Given the description of an element on the screen output the (x, y) to click on. 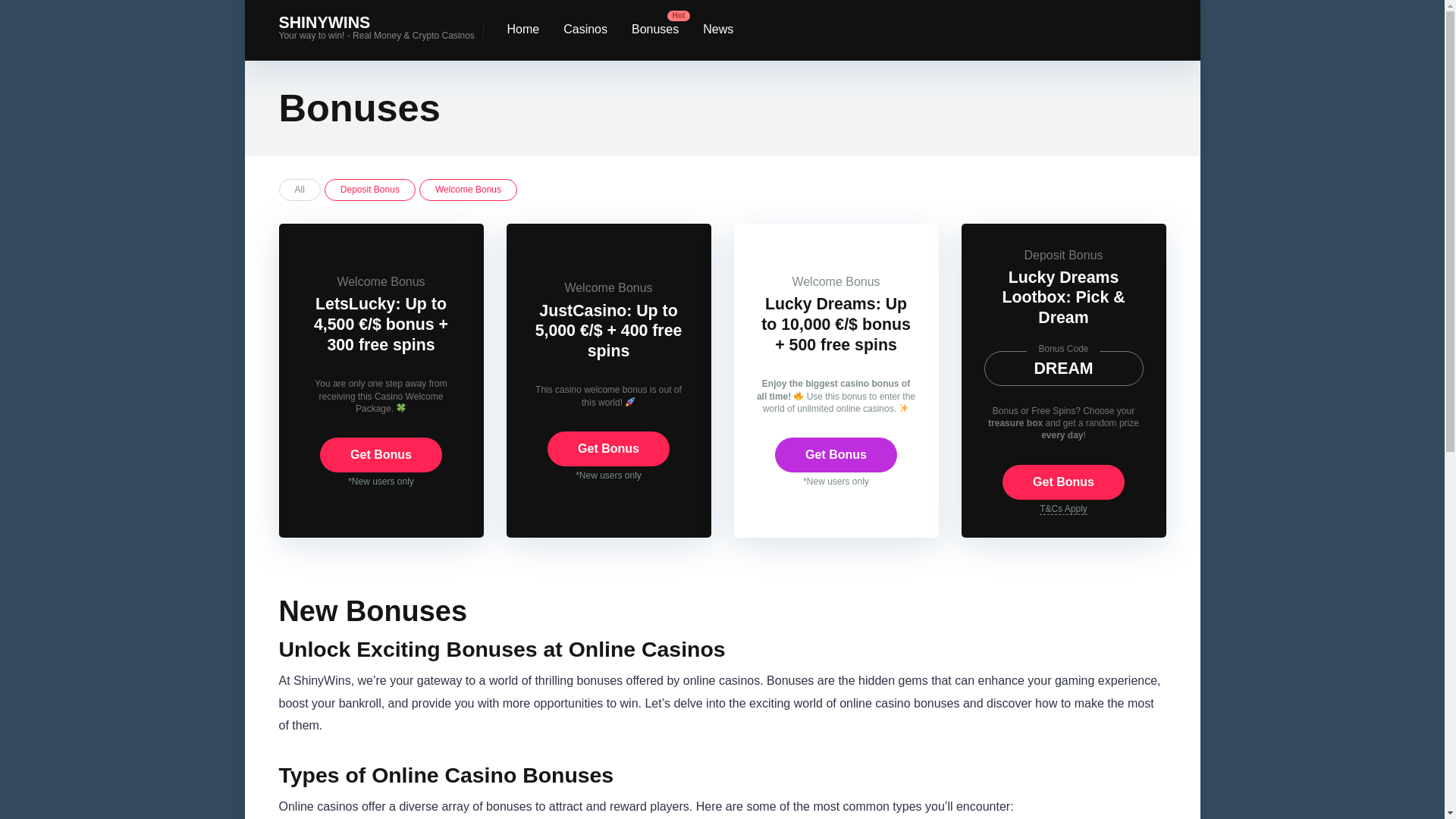
SHINYWINS (325, 17)
Get Bonus (381, 454)
Deposit Bonus (369, 189)
Welcome Bonus (608, 287)
Home (523, 30)
Bonuses (655, 30)
Welcome Bonus (608, 287)
Welcome Bonus (467, 189)
Get Bonus (381, 454)
News (717, 30)
Welcome Bonus (380, 281)
Get Bonus (835, 454)
Get Bonus (608, 448)
Welcome Bonus (835, 281)
Welcome Bonus (467, 189)
